Given the description of an element on the screen output the (x, y) to click on. 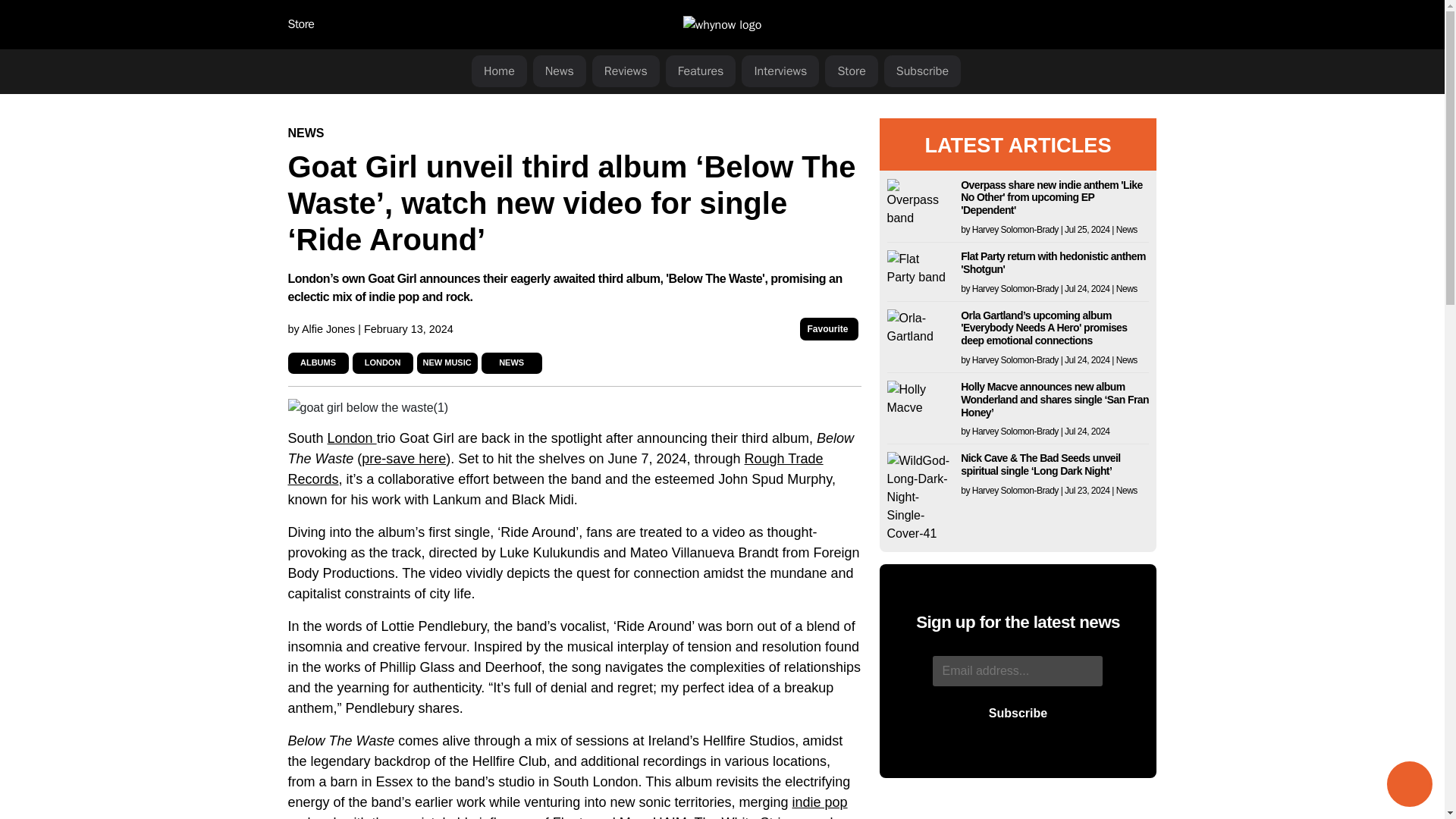
Store (851, 70)
London (383, 361)
HAIM (669, 816)
Features (700, 70)
Home (499, 70)
Subscribe (921, 70)
LONDON (383, 361)
NEWS (306, 132)
News (1126, 229)
New Music (447, 361)
London (352, 437)
rock (328, 816)
Rough Trade Records (556, 468)
Store (301, 23)
Harvey Solomon-Brady (1015, 229)
